Given the description of an element on the screen output the (x, y) to click on. 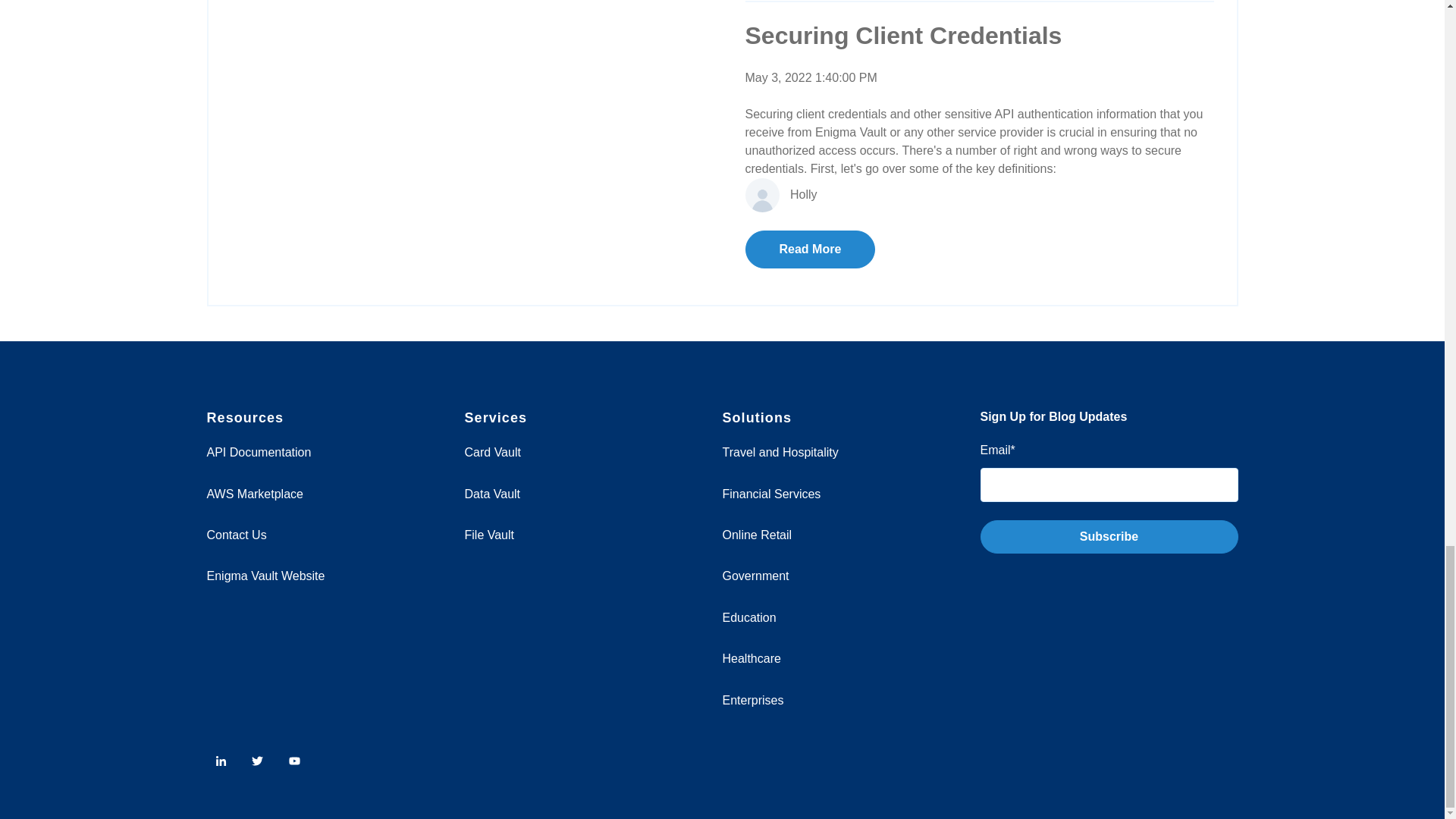
File Vault (488, 534)
Securing Client Credentials (902, 35)
Read More (809, 249)
Card Vault (491, 451)
Holly (803, 194)
Follow us on Twitter (257, 760)
Education (749, 617)
Follow us on Facebook (293, 760)
Financial Services (771, 493)
Online Retail (757, 534)
